Given the description of an element on the screen output the (x, y) to click on. 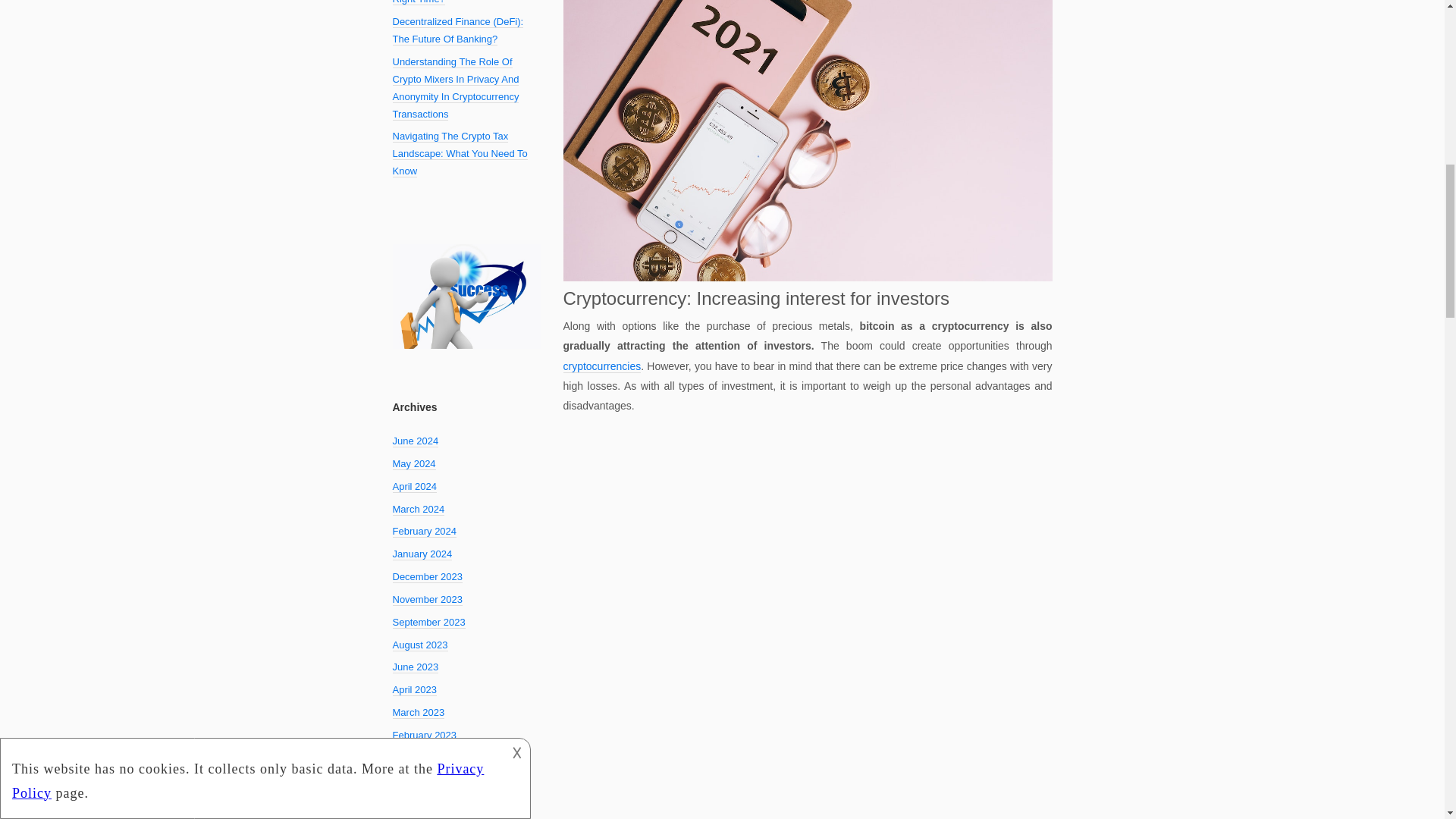
August 2023 (420, 645)
April 2023 (415, 689)
February 2023 (425, 735)
Navigating The Crypto Tax Landscape: What You Need To Know (460, 153)
November 2023 (428, 599)
April 2024 (415, 486)
June 2023 (416, 666)
March 2024 (419, 509)
cryptocurrencies (806, 376)
May 2024 (414, 463)
February 2024 (425, 531)
December 2022 (428, 758)
June 2024 (416, 440)
Investing In Bitcoin: Is Now The Right Time? (462, 2)
